Given the description of an element on the screen output the (x, y) to click on. 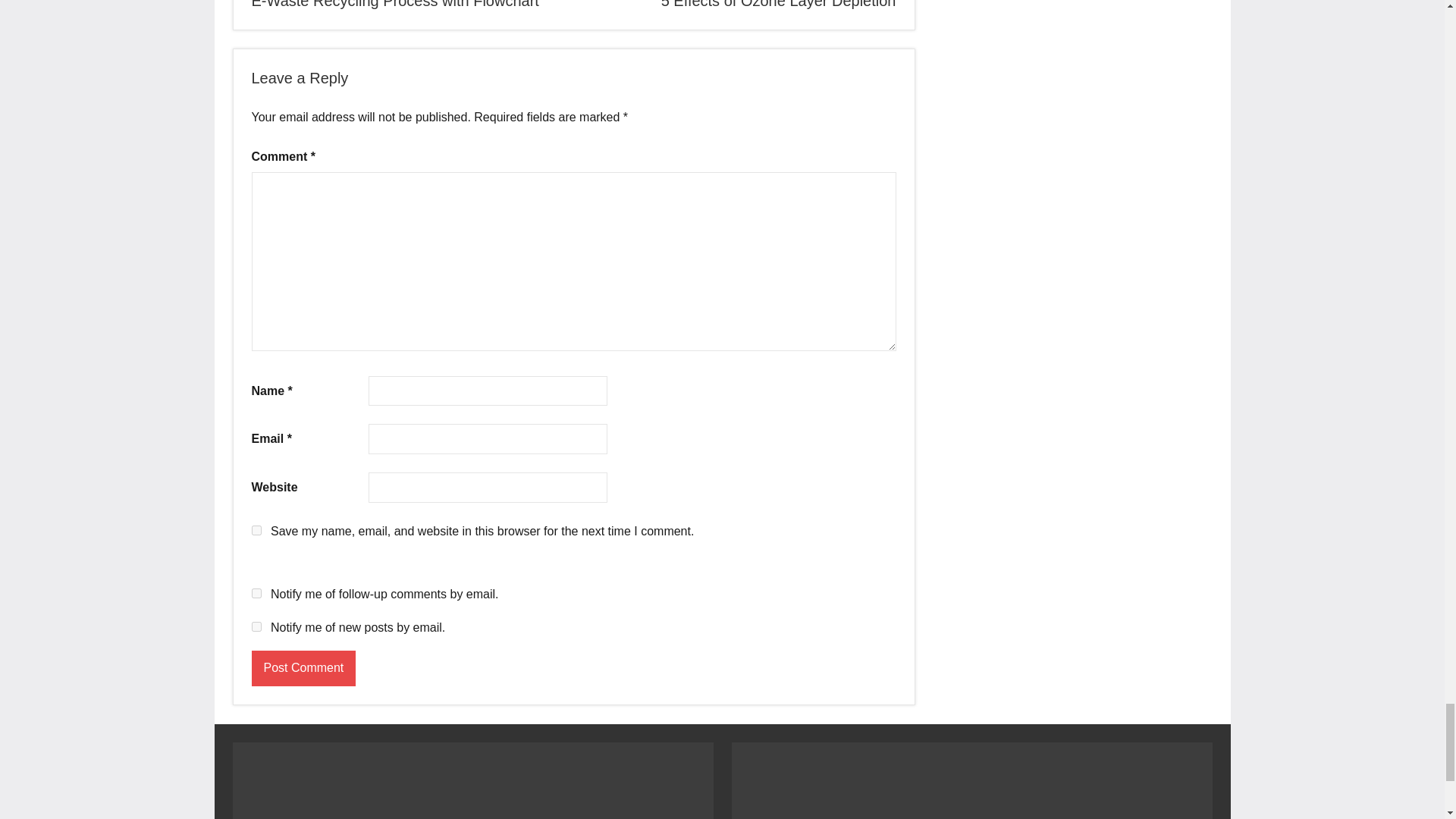
subscribe (256, 593)
Post Comment (303, 668)
yes (256, 530)
subscribe (256, 626)
